Given the description of an element on the screen output the (x, y) to click on. 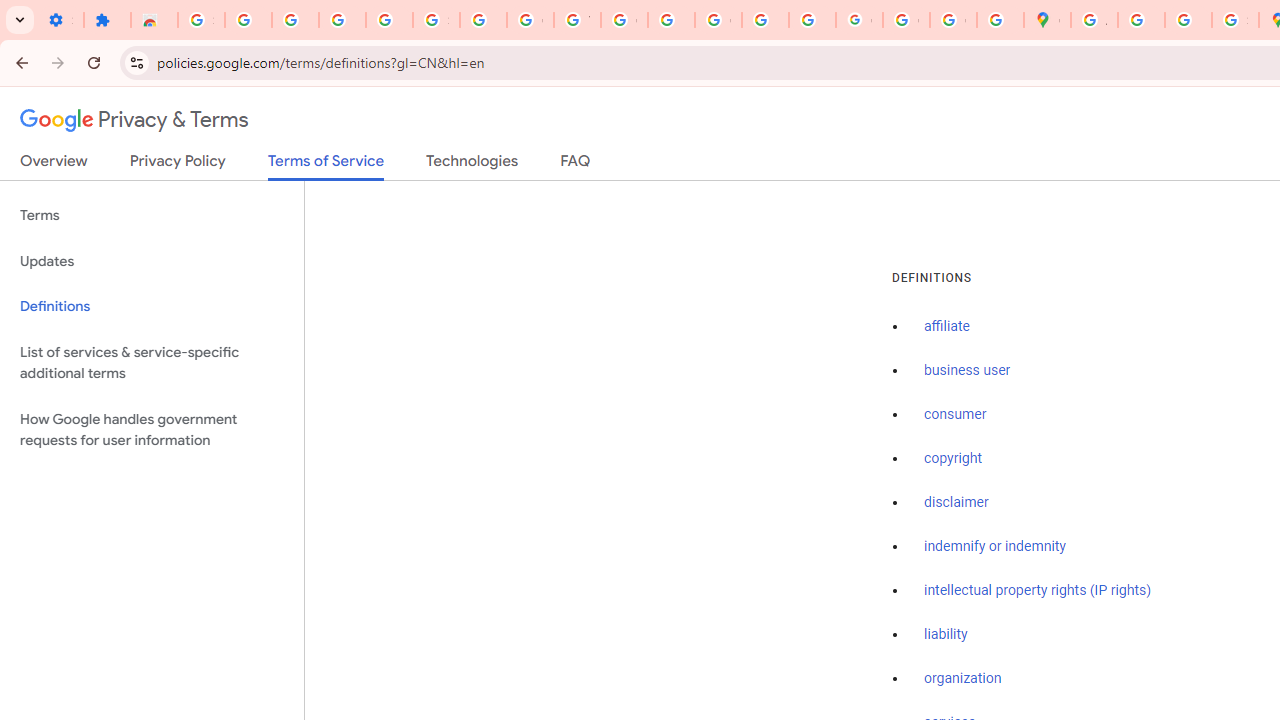
Privacy Policy (177, 165)
Reviews: Helix Fruit Jump Arcade Game (153, 20)
Delete photos & videos - Computer - Google Photos Help (294, 20)
consumer (955, 415)
Updates (152, 261)
liability (945, 634)
FAQ (575, 165)
Extensions (107, 20)
